Given the description of an element on the screen output the (x, y) to click on. 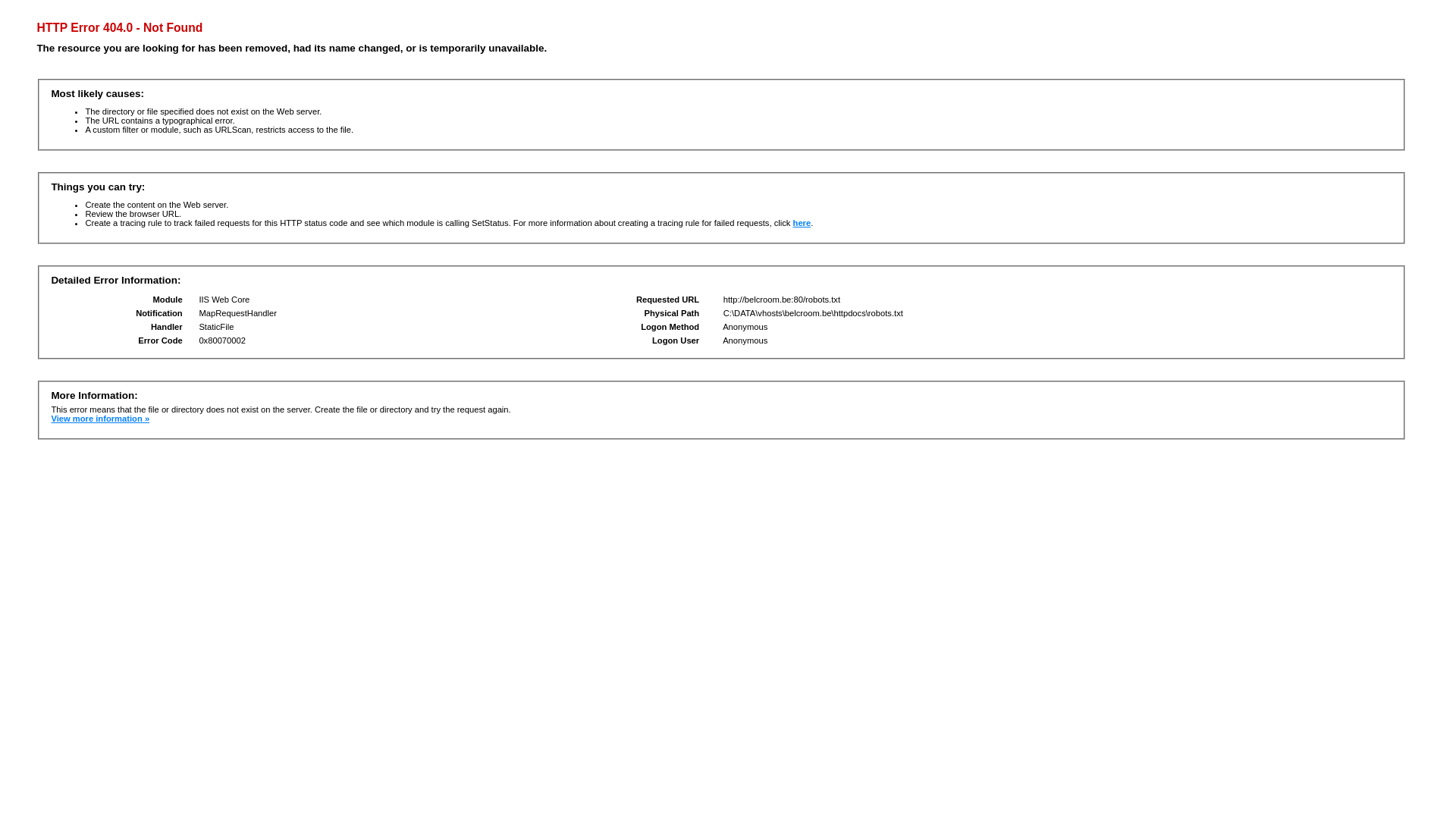
here Element type: text (802, 222)
